Given the description of an element on the screen output the (x, y) to click on. 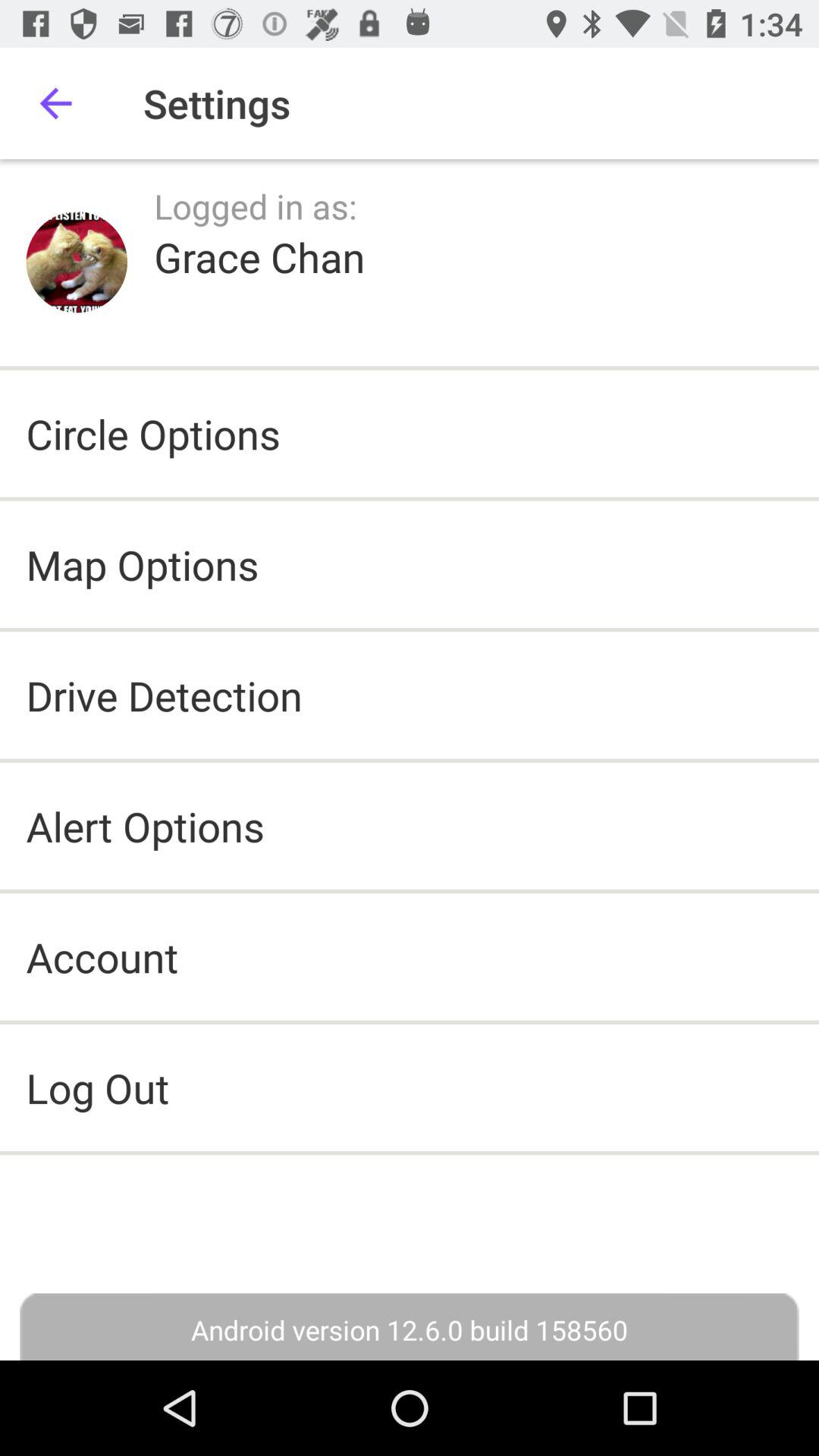
turn on item above the log out (102, 956)
